Given the description of an element on the screen output the (x, y) to click on. 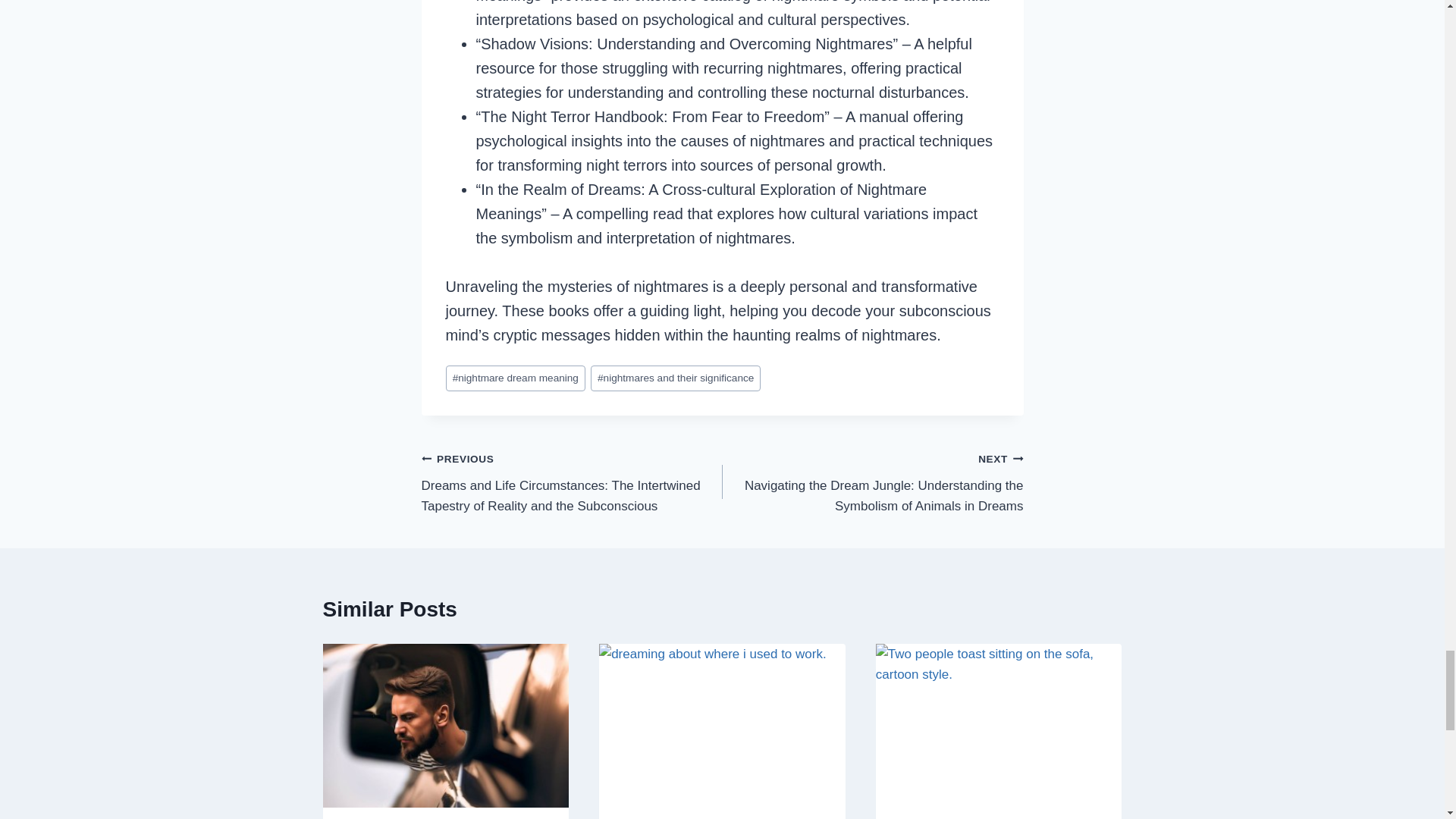
nightmares and their significance (676, 378)
nightmare dream meaning (515, 378)
